Given the description of an element on the screen output the (x, y) to click on. 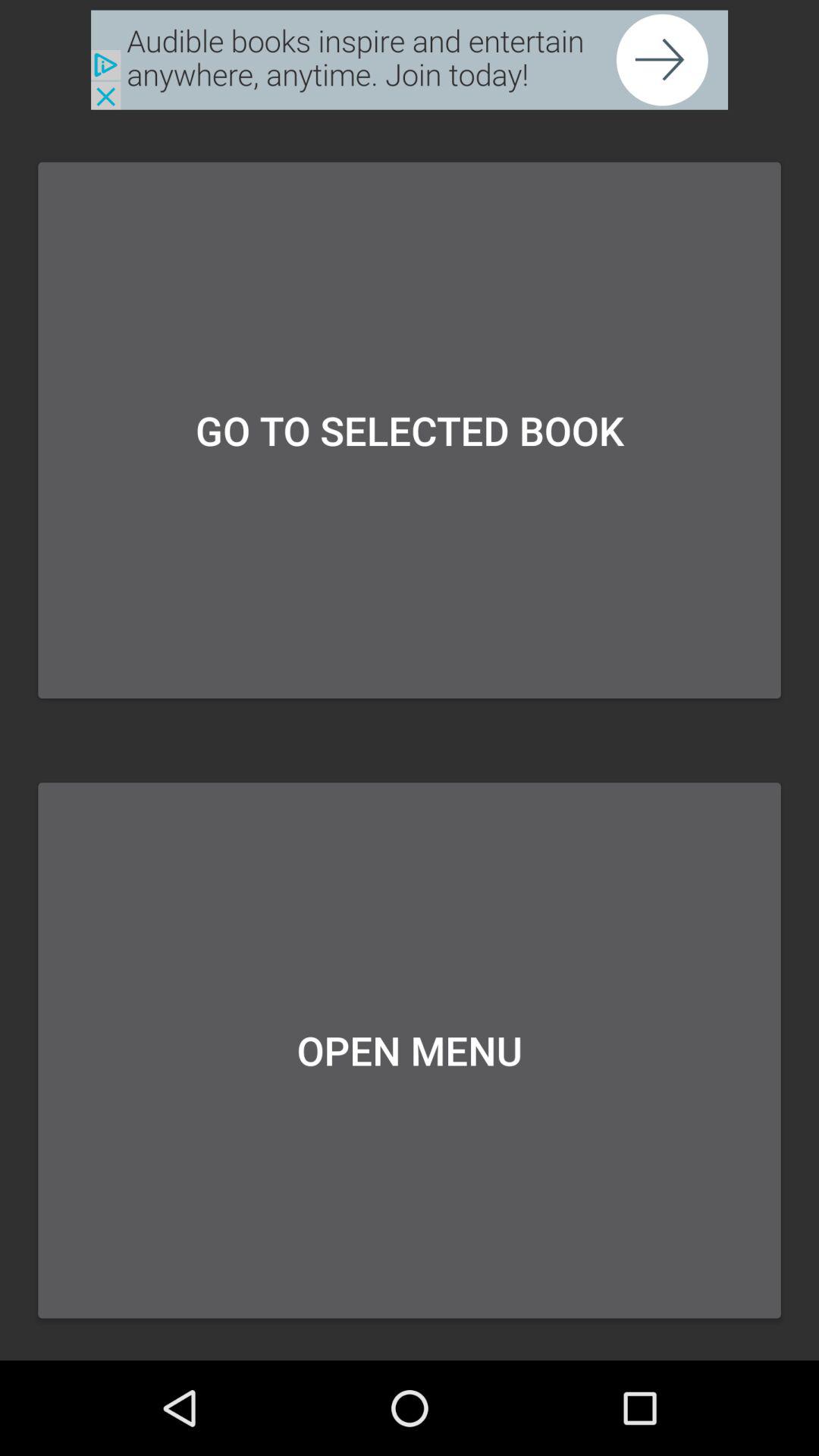
external advertisement (409, 59)
